Given the description of an element on the screen output the (x, y) to click on. 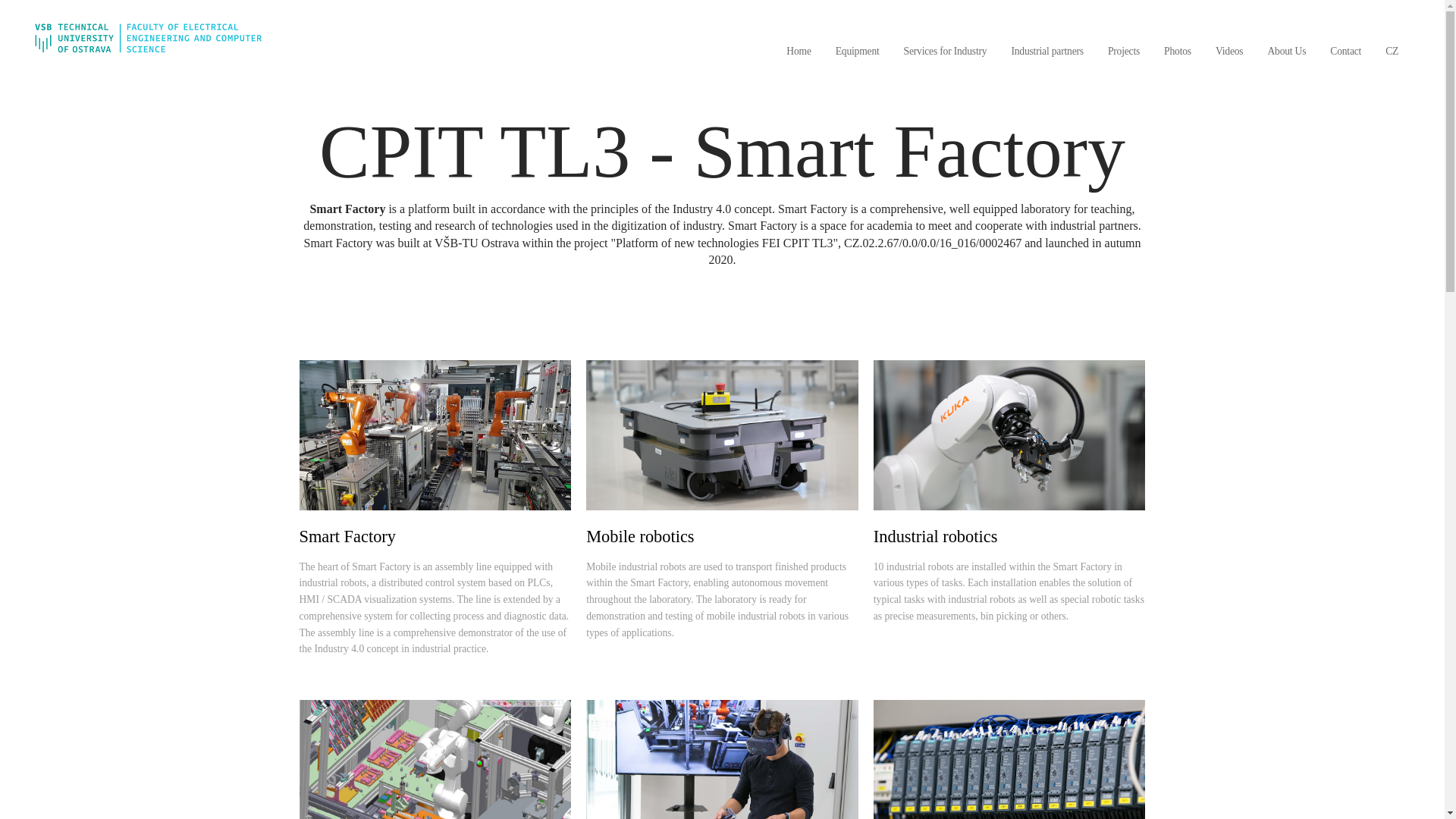
Industrial partners (1046, 51)
Photos (1177, 51)
Contact (1345, 51)
About Us (1286, 51)
Videos (1229, 51)
Equipment (857, 51)
Services for Industry (944, 51)
Projects (1123, 51)
